Given the description of an element on the screen output the (x, y) to click on. 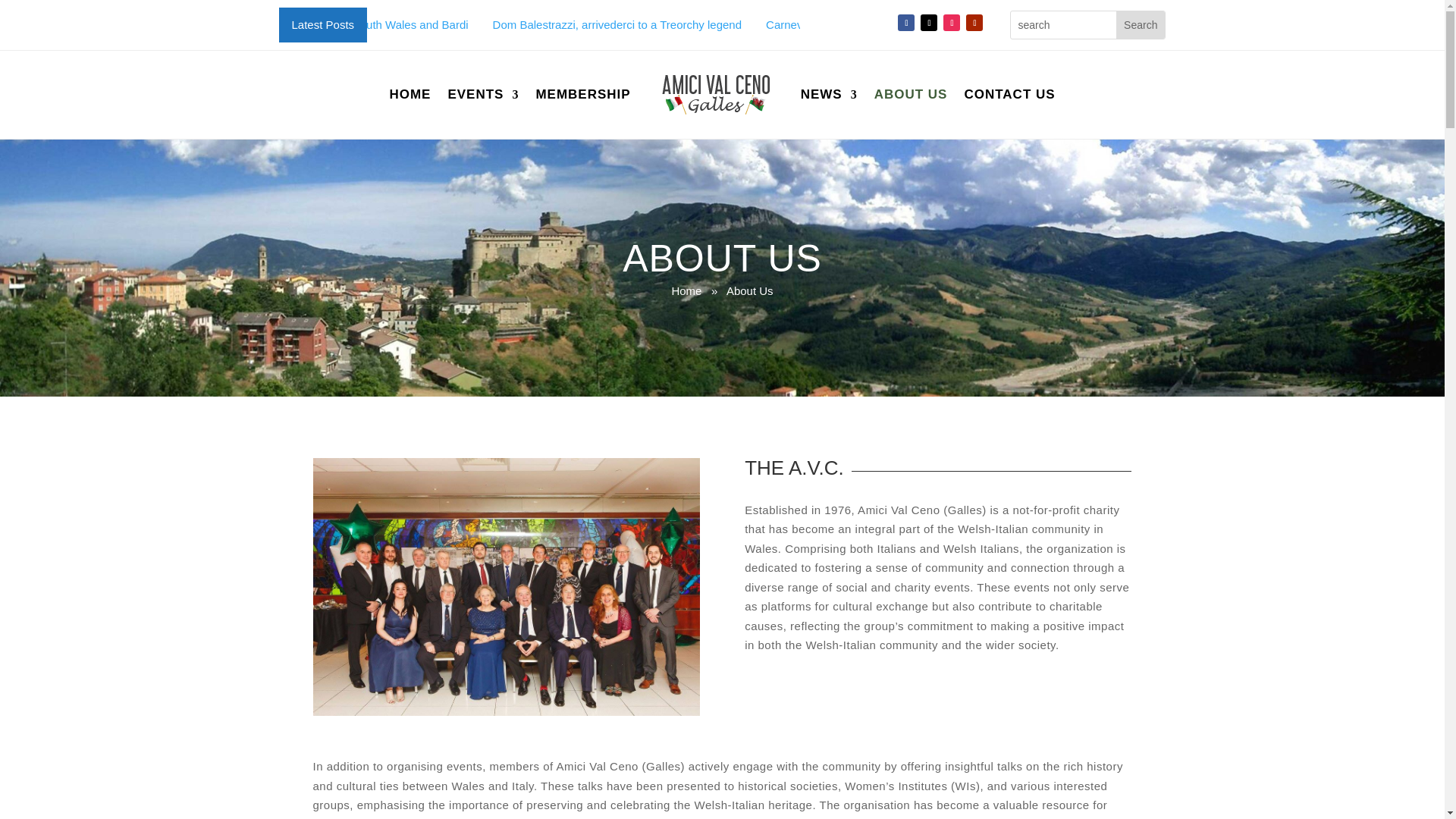
avc committee gala (505, 586)
MEMBERSHIP (582, 93)
EVENTS (482, 93)
Follow on Facebook (906, 22)
Search (1140, 24)
Follow on Instagram (951, 22)
Follow on Youtube (974, 22)
Search (1140, 24)
Follow on X (928, 22)
Dom Balestrazzi, arrivederci to a Treorchy legend (617, 24)
Carnevale 2025 (805, 24)
NEWS (828, 93)
CONTACT US (1008, 93)
ABOUT US (911, 93)
